Given the description of an element on the screen output the (x, y) to click on. 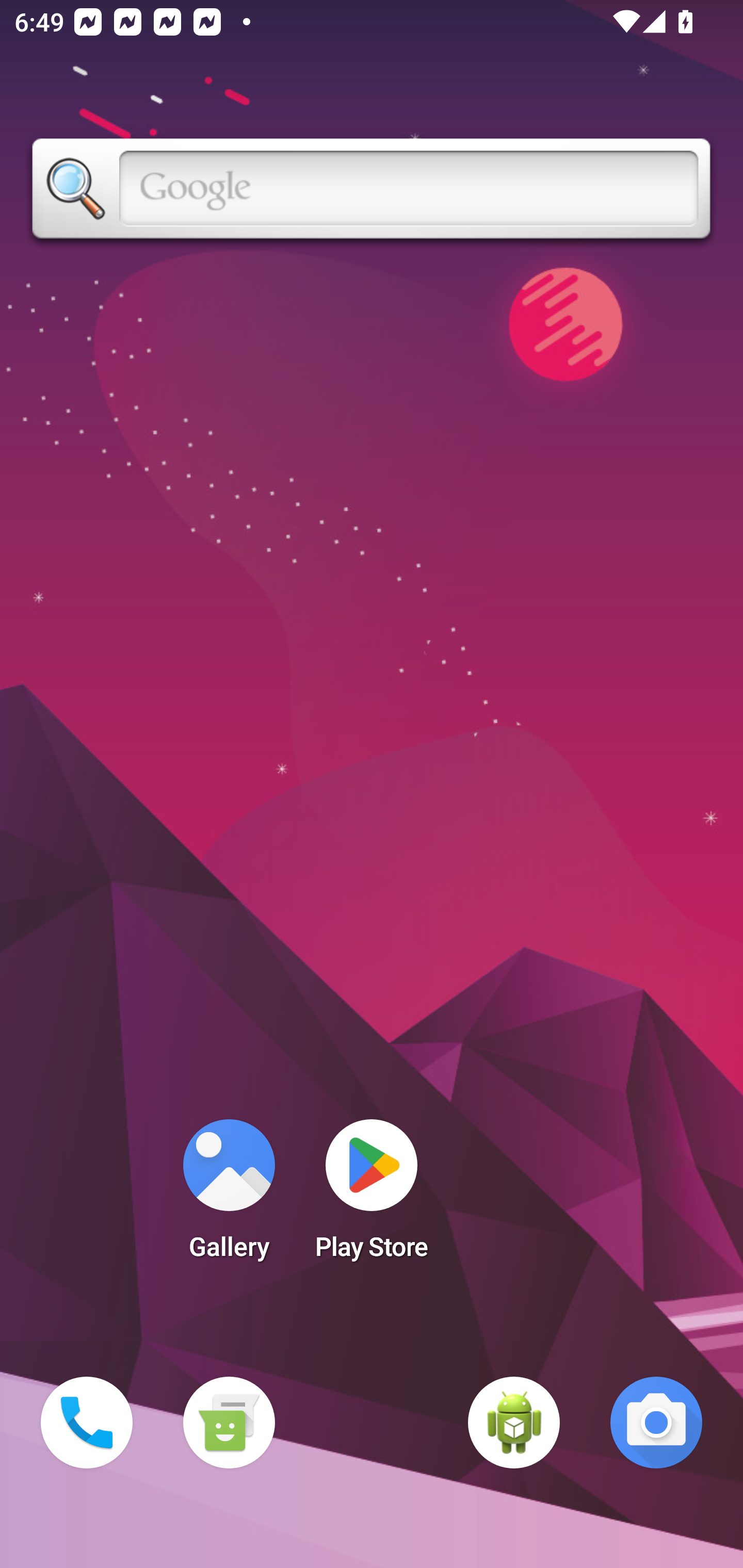
Gallery (228, 1195)
Play Store (371, 1195)
Phone (86, 1422)
Messaging (228, 1422)
WebView Browser Tester (513, 1422)
Camera (656, 1422)
